Given the description of an element on the screen output the (x, y) to click on. 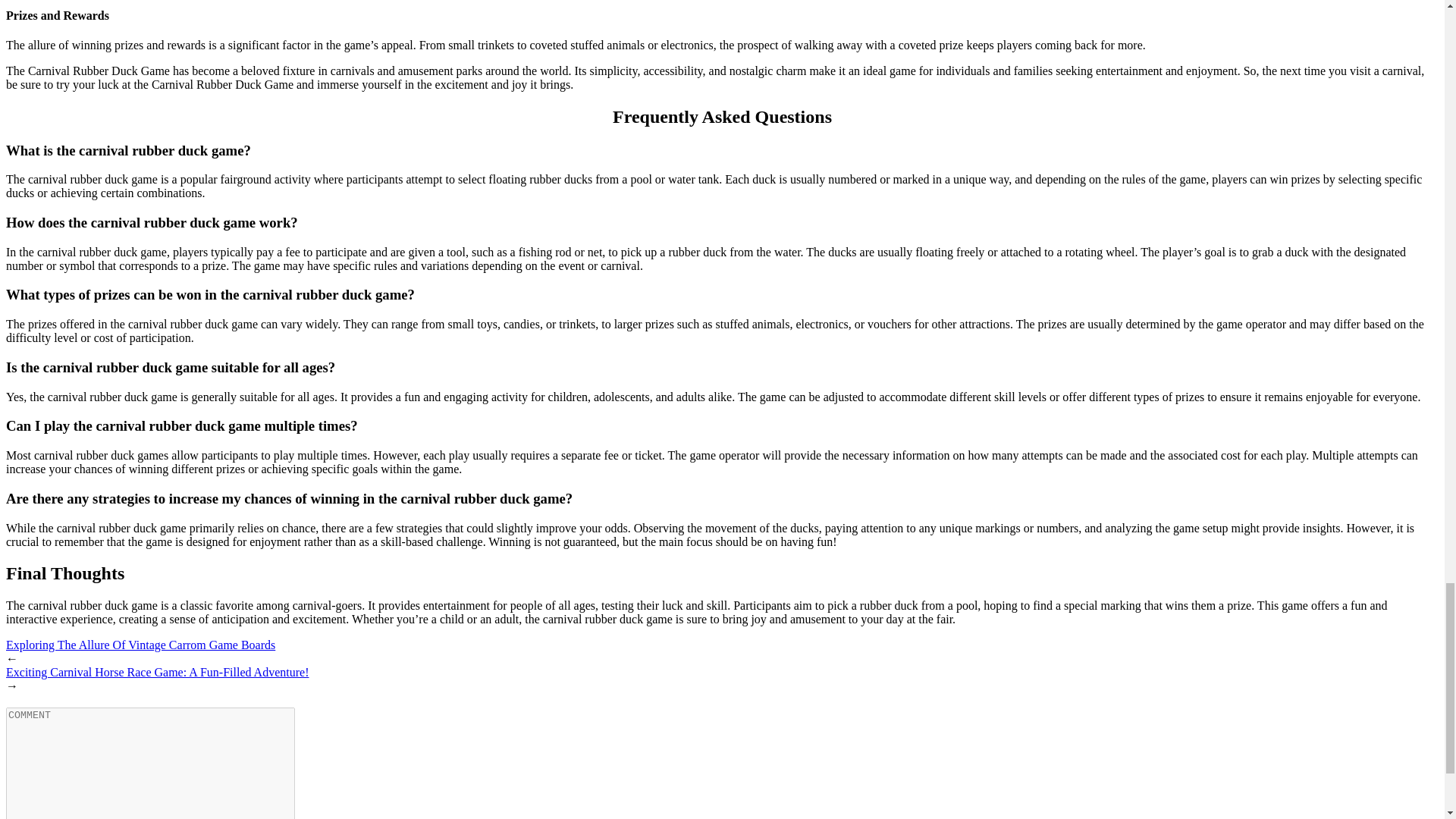
Exciting Carnival Horse Race Game: A Fun-Filled Adventure! (156, 671)
Exploring The Allure Of Vintage Carrom Game Boards (140, 644)
